Given the description of an element on the screen output the (x, y) to click on. 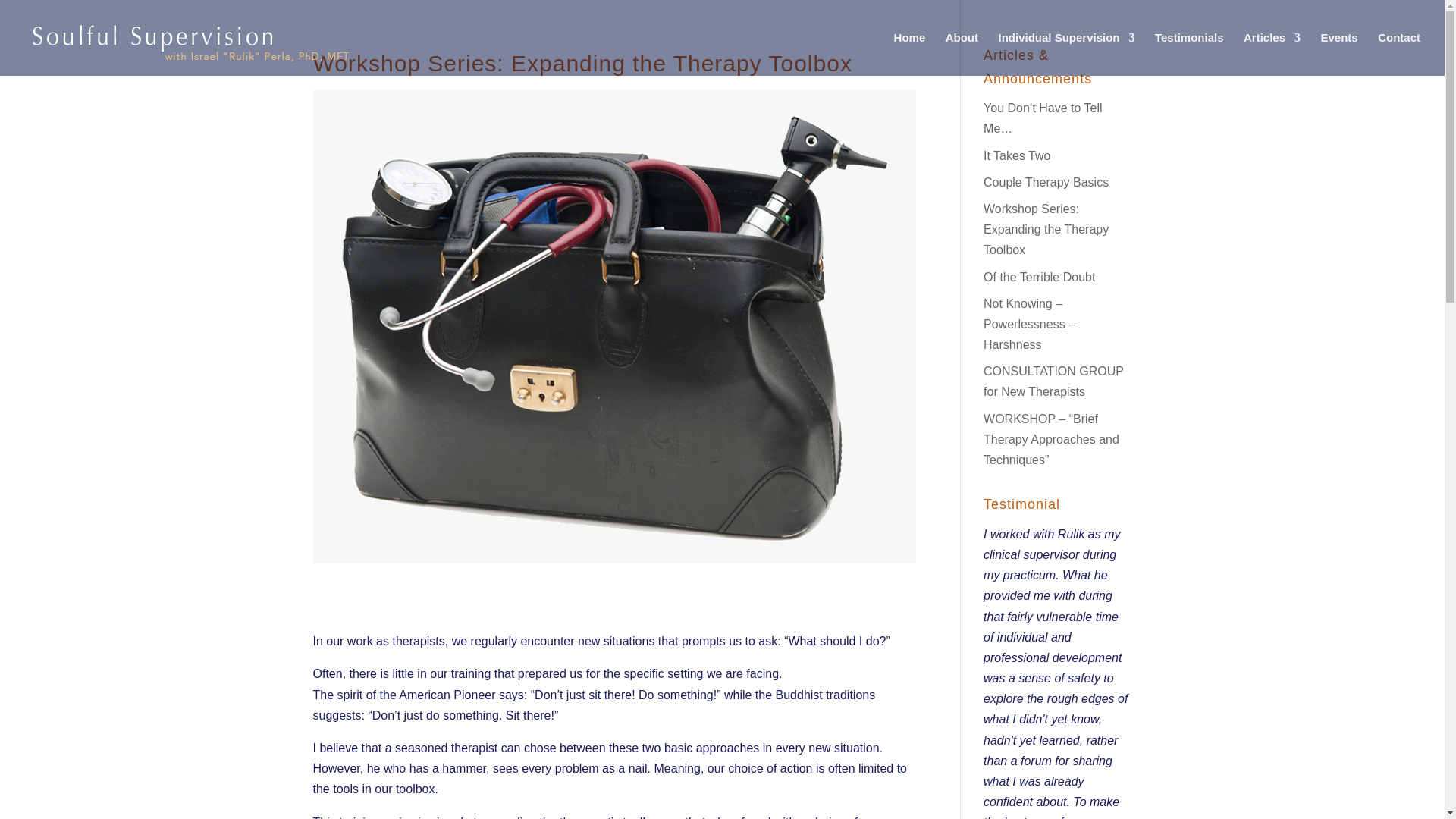
It Takes Two (1016, 155)
Testimonials (1189, 54)
Contact (1399, 54)
Workshop Series: Expanding the Therapy Toolbox (1046, 229)
Couple Therapy Basics (1046, 182)
Of the Terrible Doubt (1039, 276)
Individual Supervision (1065, 54)
CONSULTATION GROUP for New Therapists (1054, 381)
Articles (1271, 54)
